Given the description of an element on the screen output the (x, y) to click on. 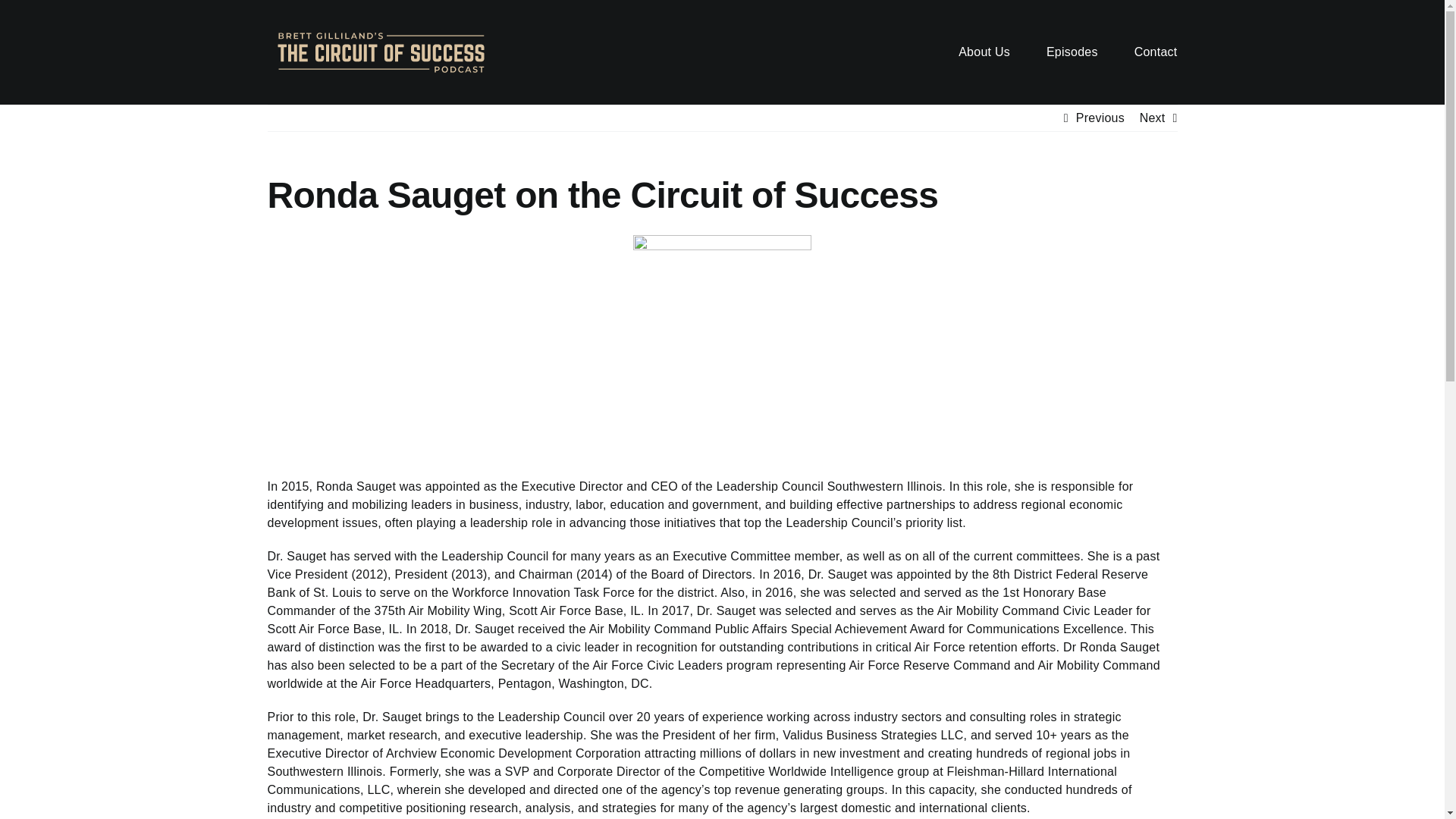
Previous (1099, 118)
Next (1153, 118)
